Given the description of an element on the screen output the (x, y) to click on. 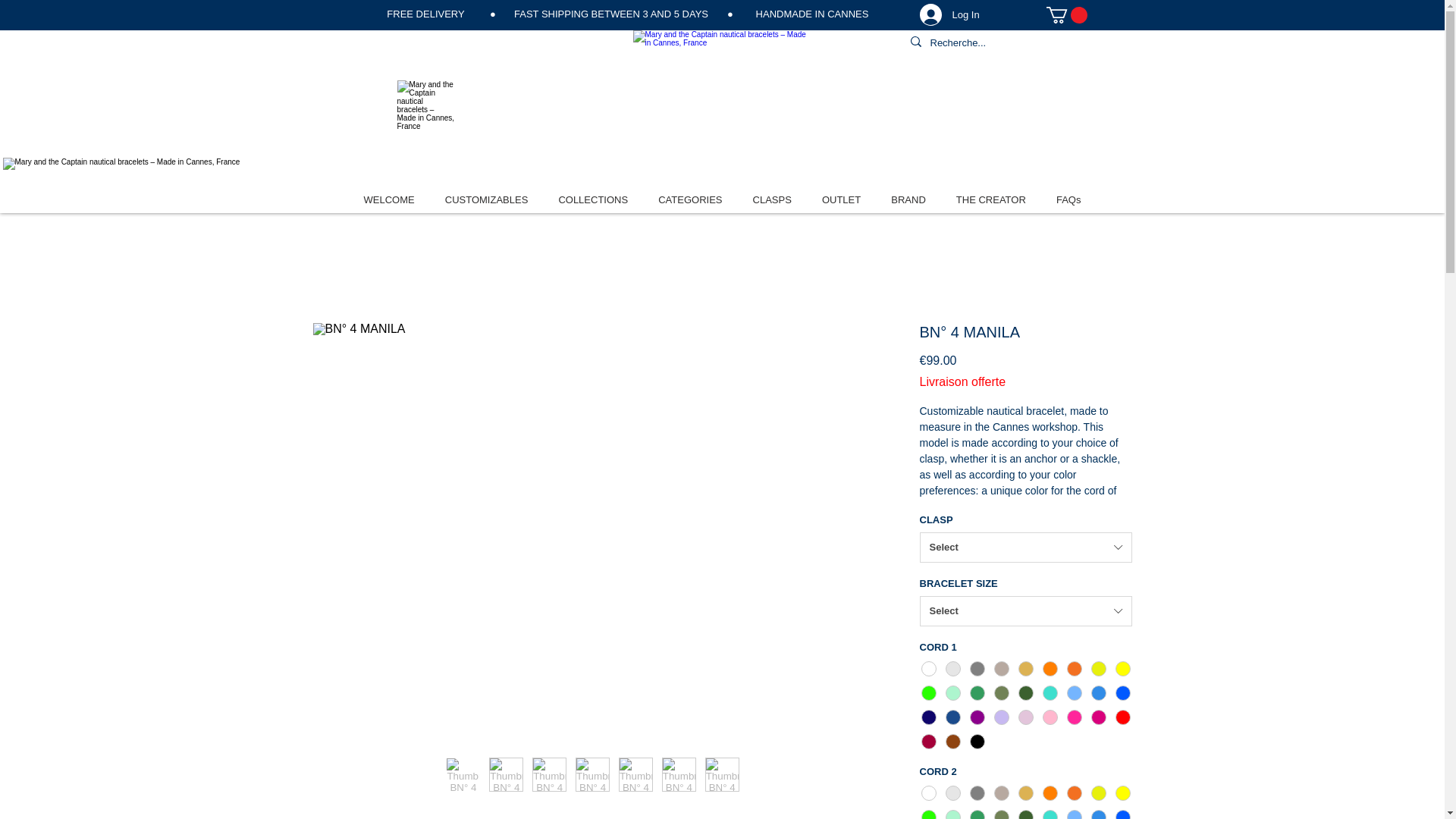
CATEGORIES (690, 199)
WELCOME (388, 199)
CLASPS (772, 199)
OUTLET (841, 199)
Livraison offerte (962, 381)
COLLECTIONS (592, 199)
Log In (949, 15)
BRAND (908, 199)
FAQs (1068, 199)
CUSTOMIZABLES (486, 199)
Select (1024, 547)
THE CREATOR (991, 199)
